Given the description of an element on the screen output the (x, y) to click on. 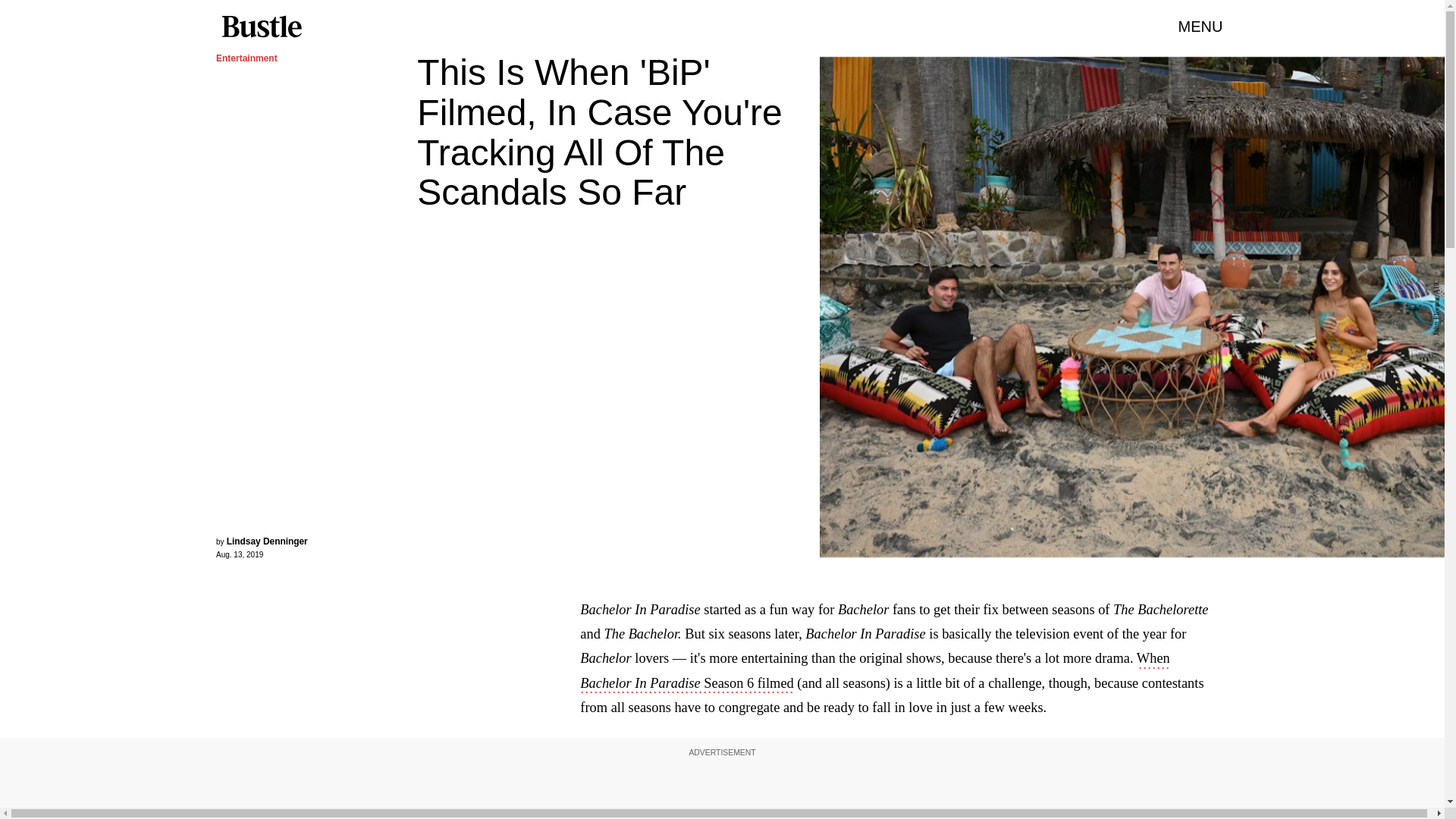
Bustle (261, 26)
Lindsay Denninger (267, 541)
When Bachelor In Paradise Season 6 filmed (874, 671)
